Given the description of an element on the screen output the (x, y) to click on. 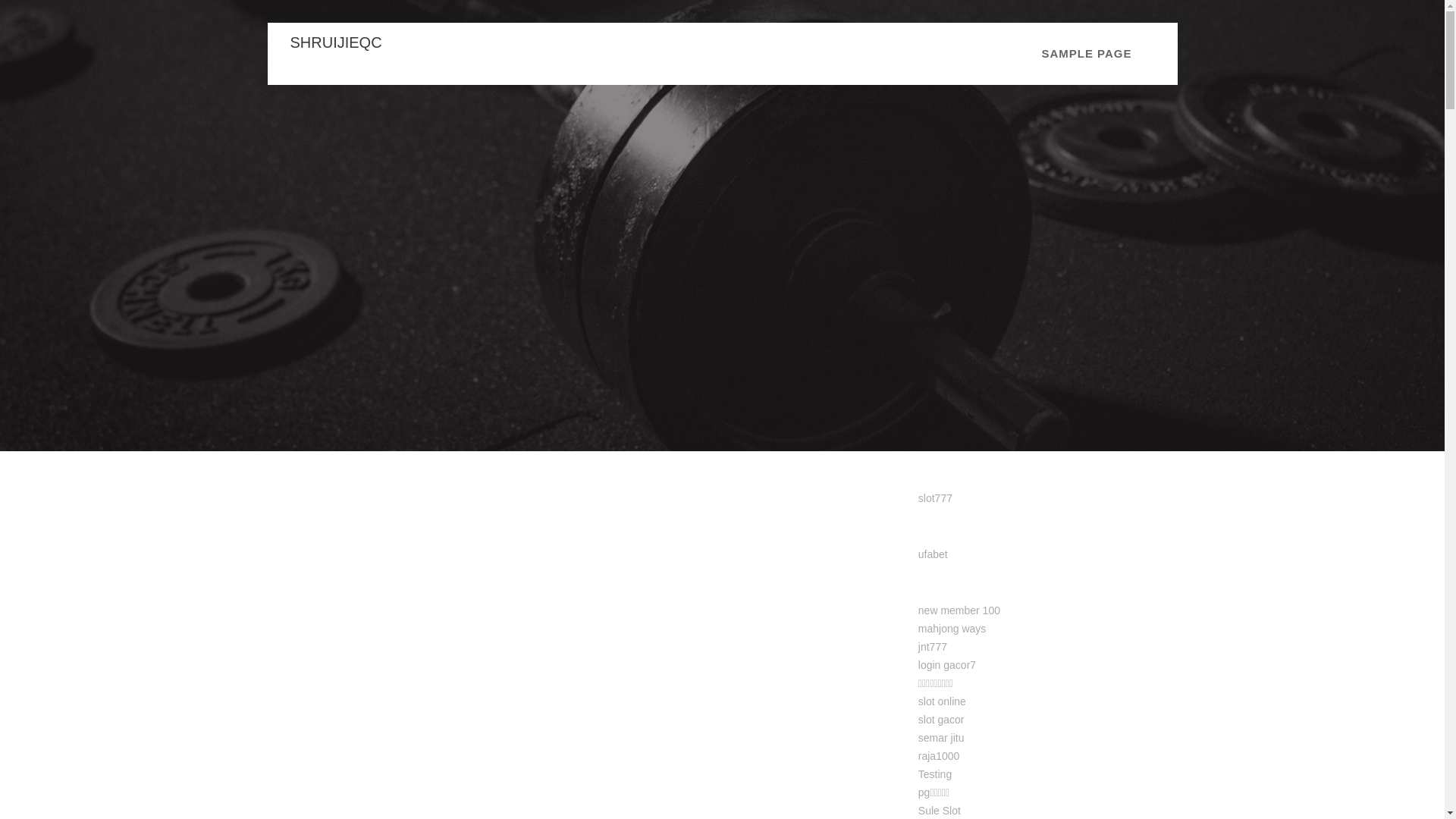
login gacor7 (946, 664)
raja1000 (938, 756)
jnt777 (932, 646)
semar jitu (940, 737)
ufabet (932, 553)
mahjong ways (952, 628)
slot777 (935, 498)
shruijieqc (335, 42)
Sule Slot (939, 810)
slot gacor (940, 719)
Testing (935, 774)
slot online (942, 701)
SAMPLE PAGE (1085, 53)
new member 100 (959, 610)
SHRUIJIEQC (335, 42)
